Given the description of an element on the screen output the (x, y) to click on. 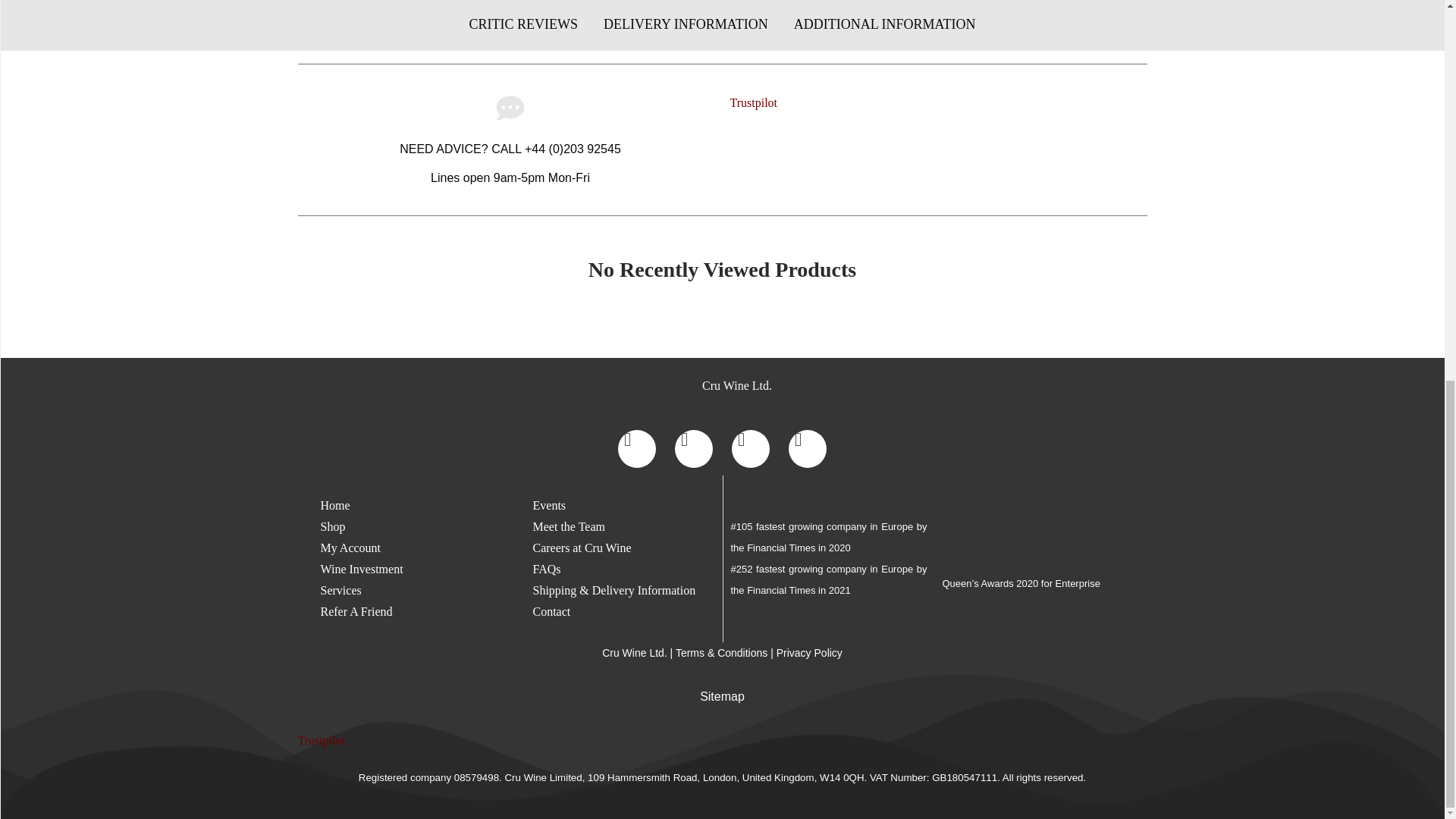
icon-message.png (510, 107)
